Given the description of an element on the screen output the (x, y) to click on. 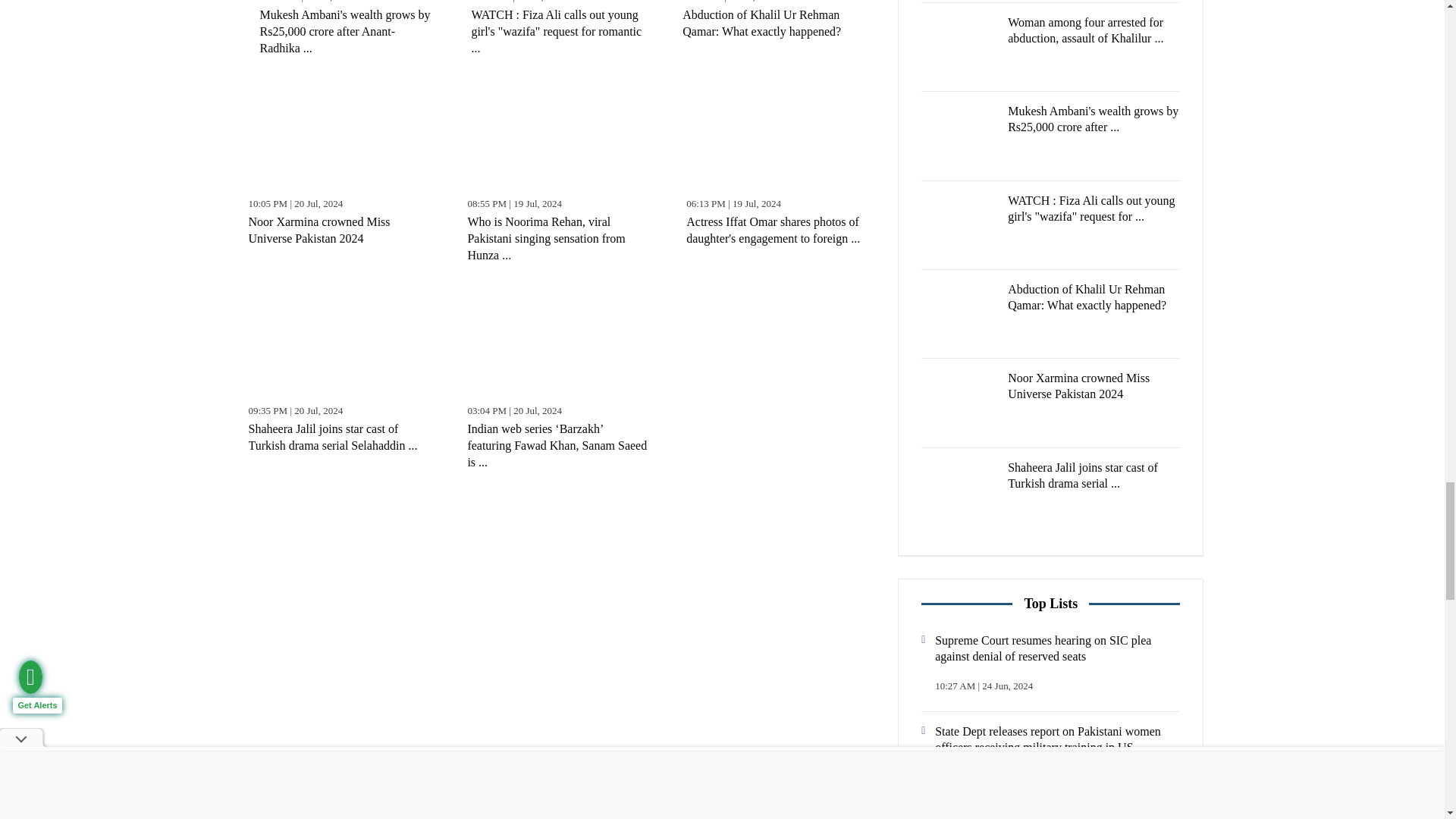
Noor Xarmina crowned Miss Universe Pakistan 2024 (339, 135)
